Given the description of an element on the screen output the (x, y) to click on. 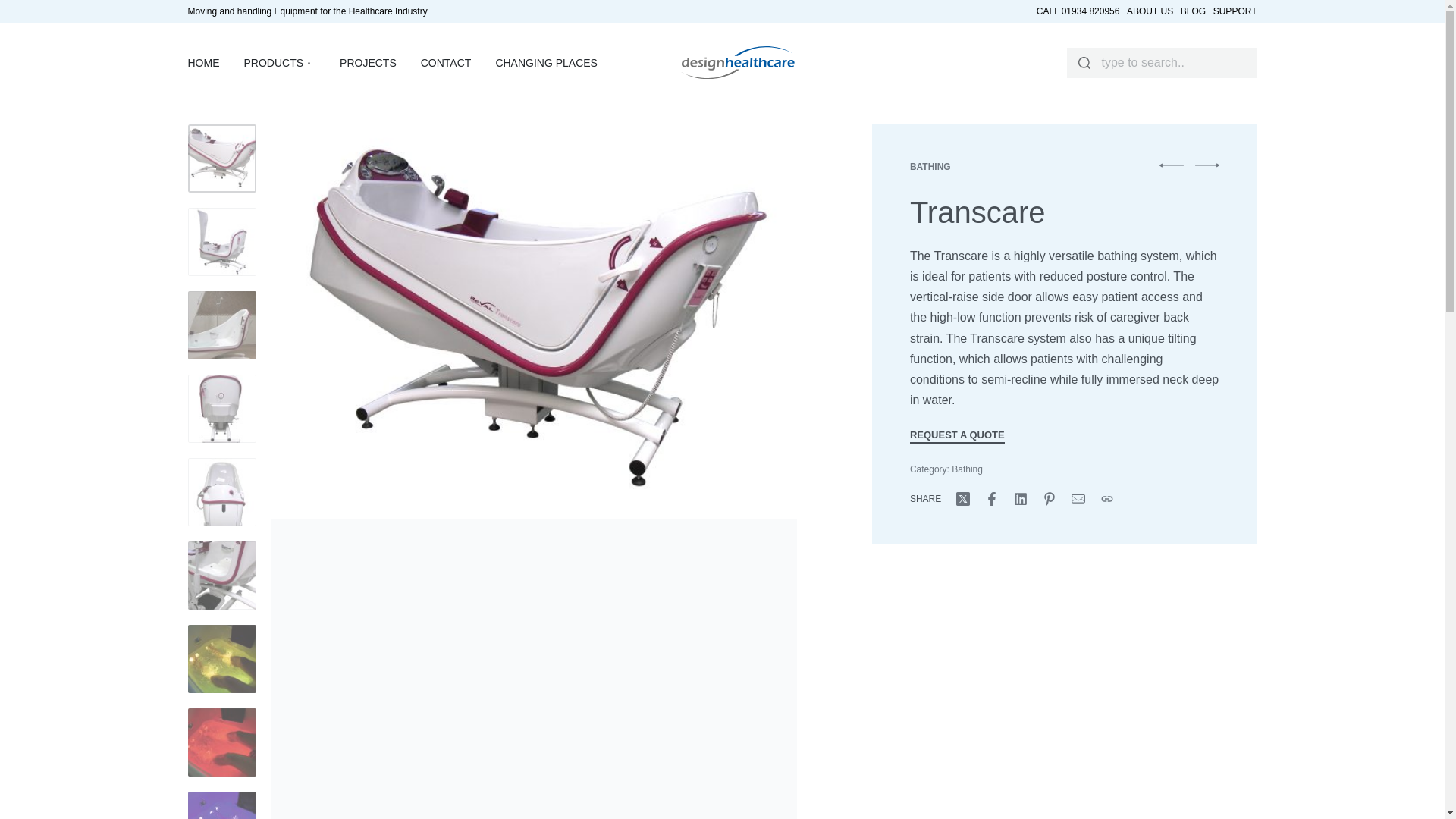
HOME (203, 63)
ABOUT US (1149, 11)
PRODUCTS (279, 63)
BLOG (1192, 11)
SUPPORT (1234, 11)
CHANGING PLACES (545, 63)
PROJECTS (367, 63)
CONTACT (445, 63)
CALL 01934 820956 (1077, 11)
